Given the description of an element on the screen output the (x, y) to click on. 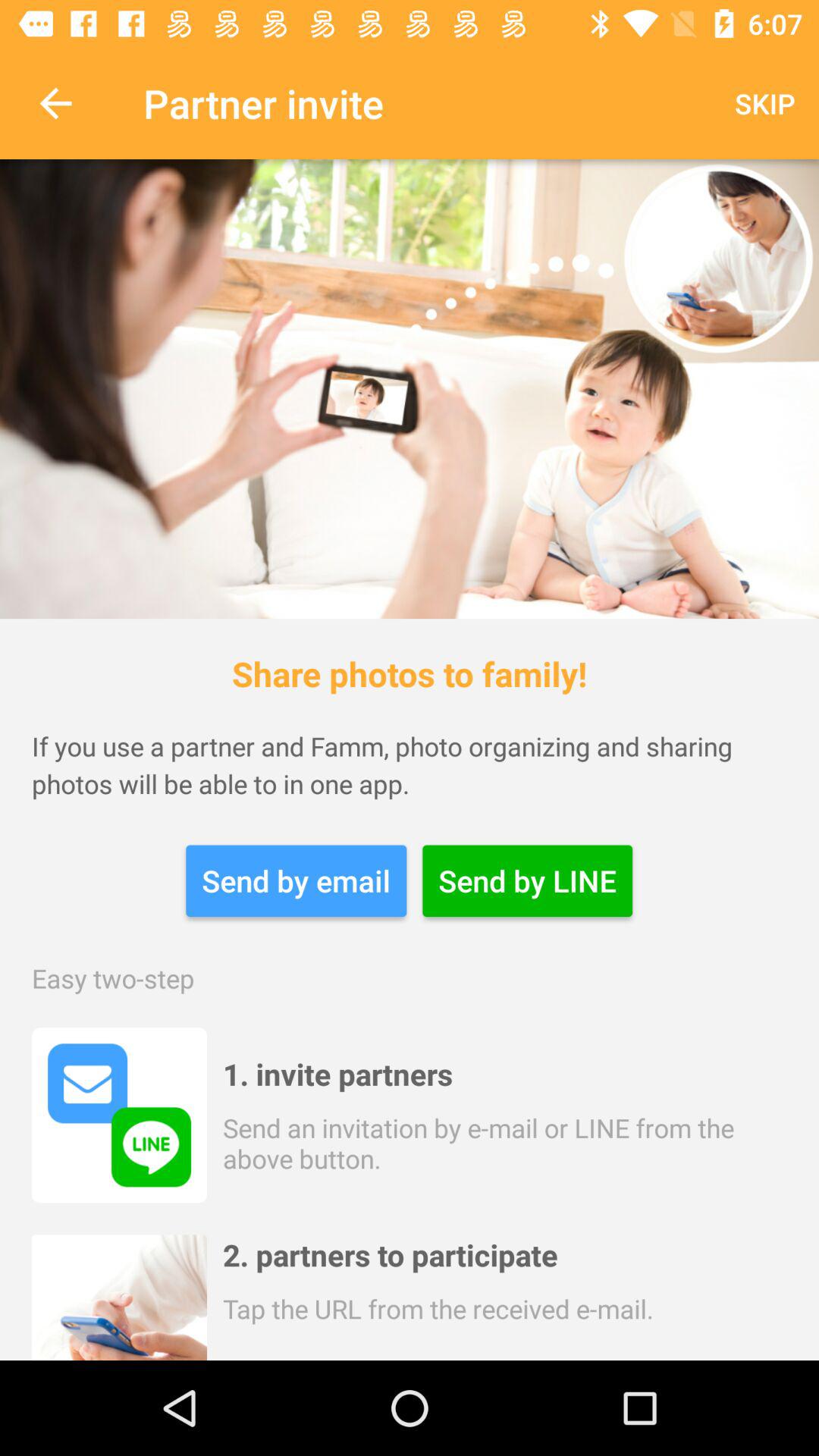
click icon to the right of partner invite item (764, 103)
